Given the description of an element on the screen output the (x, y) to click on. 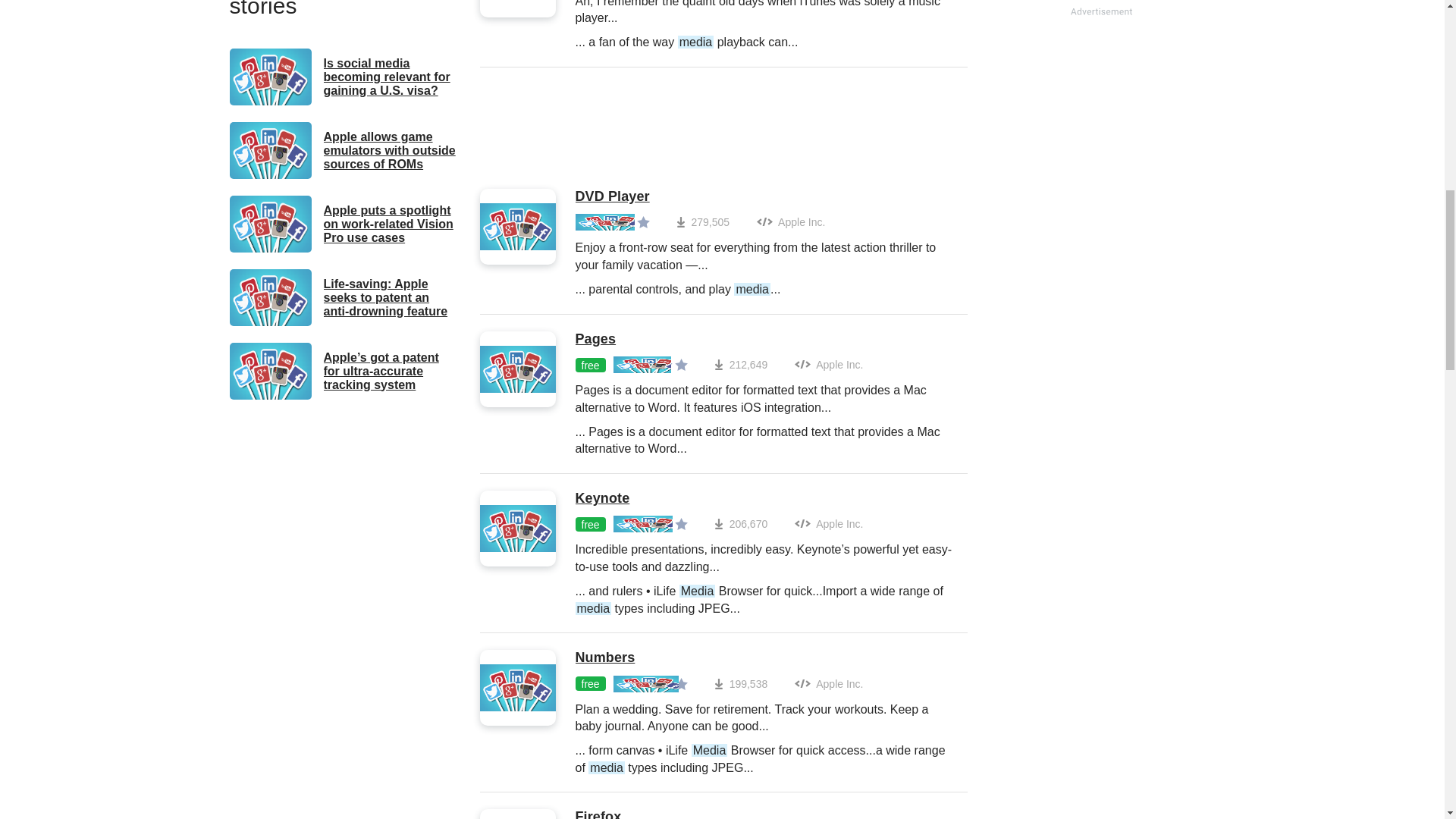
Numbers (763, 658)
Apple allows game emulators with outside sources of ROMs (342, 150)
Pages (763, 339)
Is social media becoming relevant for gaining a U.S. visa? (342, 76)
Life-saving: Apple seeks to patent an anti-drowning feature (342, 297)
Keynote (763, 498)
Pages (763, 339)
Apple puts a spotlight on work-related Vision Pro use cases (342, 223)
Numbers (763, 658)
DVD Player (763, 197)
Keynote (763, 498)
DVD Player (763, 197)
Firefox (763, 814)
